Given the description of an element on the screen output the (x, y) to click on. 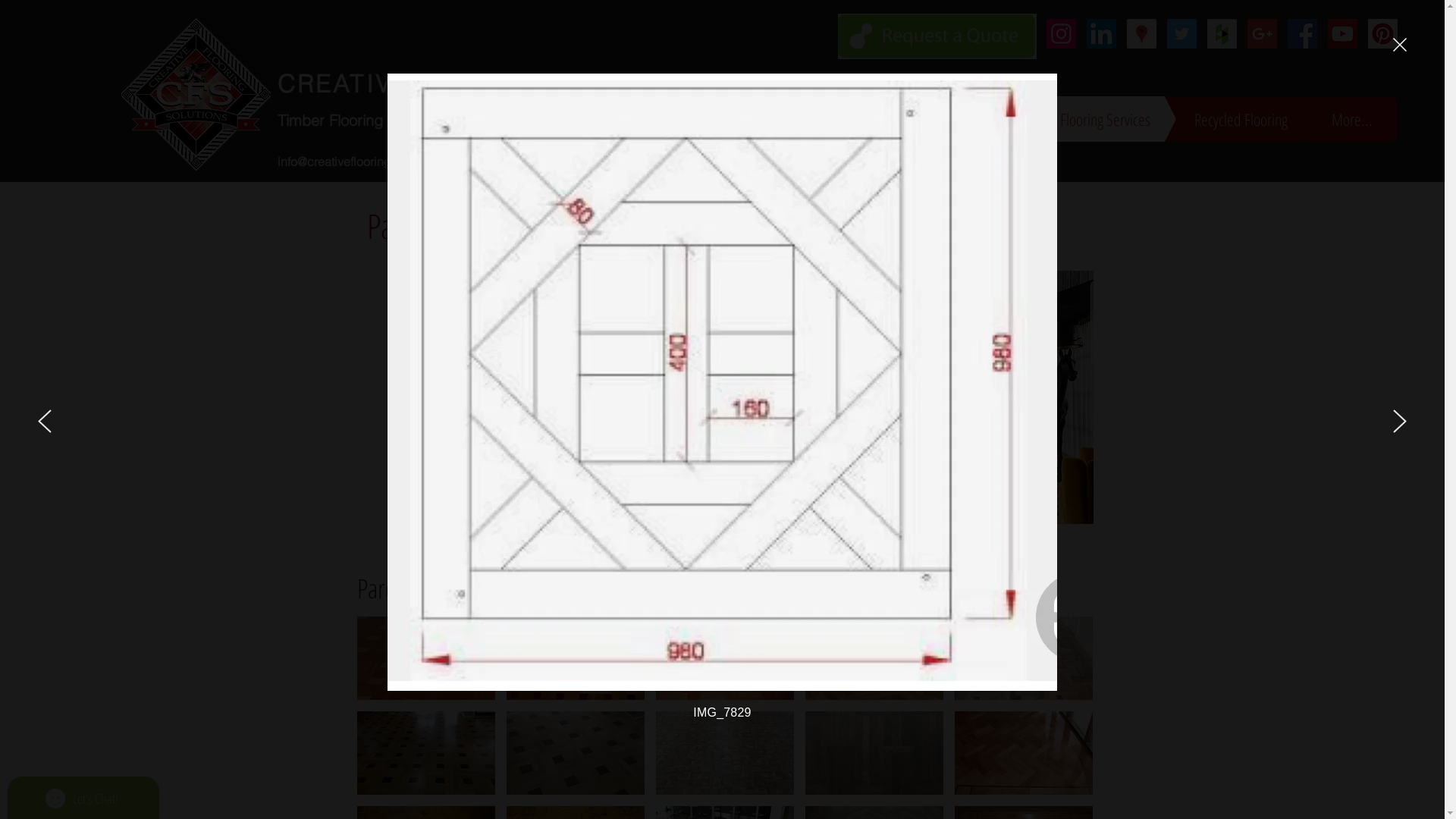
CREATIVE FLOORING SOLUTIONS Element type: text (504, 82)
About Us Element type: text (881, 118)
info@creativeflooringsolutions.com.au Element type: text (380, 160)
Home Element type: text (819, 118)
Flooring Services Element type: text (1081, 118)
Timber Flooring Specialists Element type: text (368, 119)
Flooring Element type: text (971, 118)
External YouTube Element type: hover (591, 394)
Recycled Flooring Element type: text (1218, 118)
